Given the description of an element on the screen output the (x, y) to click on. 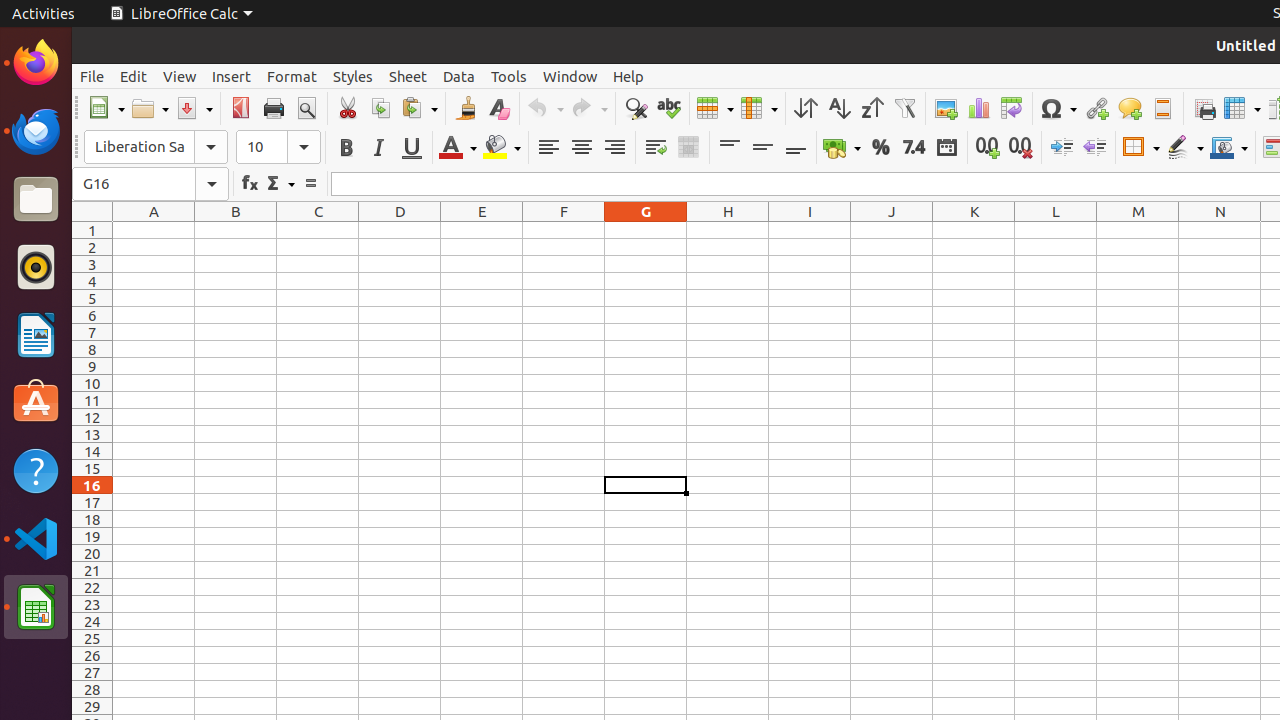
Bold Element type: toggle-button (345, 147)
Sheet Element type: menu (408, 76)
Align Top Element type: push-button (729, 147)
Visual Studio Code Element type: push-button (36, 538)
E1 Element type: table-cell (482, 230)
